Given the description of an element on the screen output the (x, y) to click on. 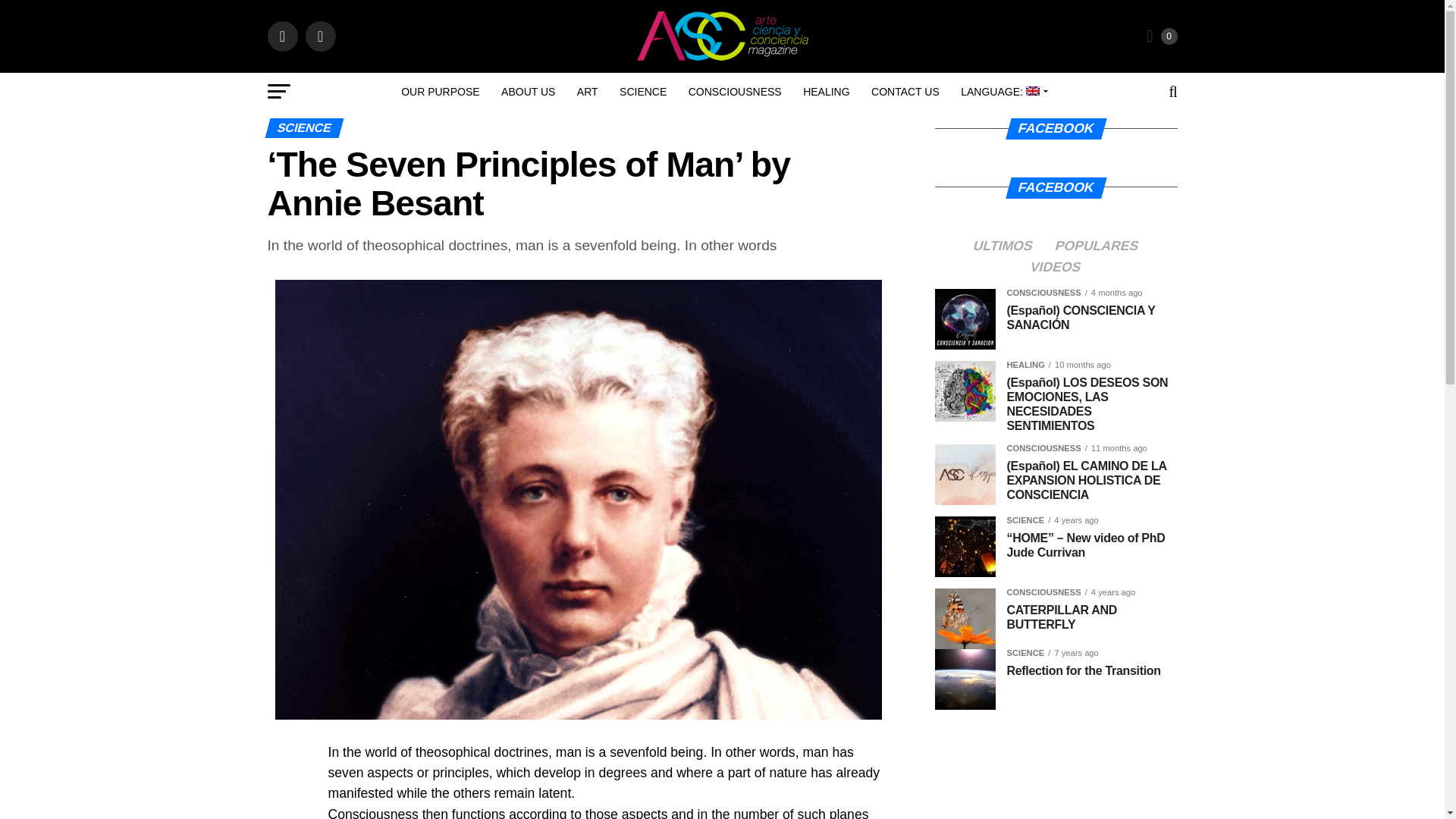
HEALING (826, 91)
CONSCIOUSNESS (734, 91)
SCIENCE (642, 91)
POPULARES (1096, 246)
LANGUAGE:  (1002, 91)
OUR PURPOSE (439, 91)
ART (587, 91)
English (1002, 91)
ABOUT US (528, 91)
ULTIMOS (1002, 246)
VIDEOS (1055, 267)
CONTACT US (905, 91)
